Given the description of an element on the screen output the (x, y) to click on. 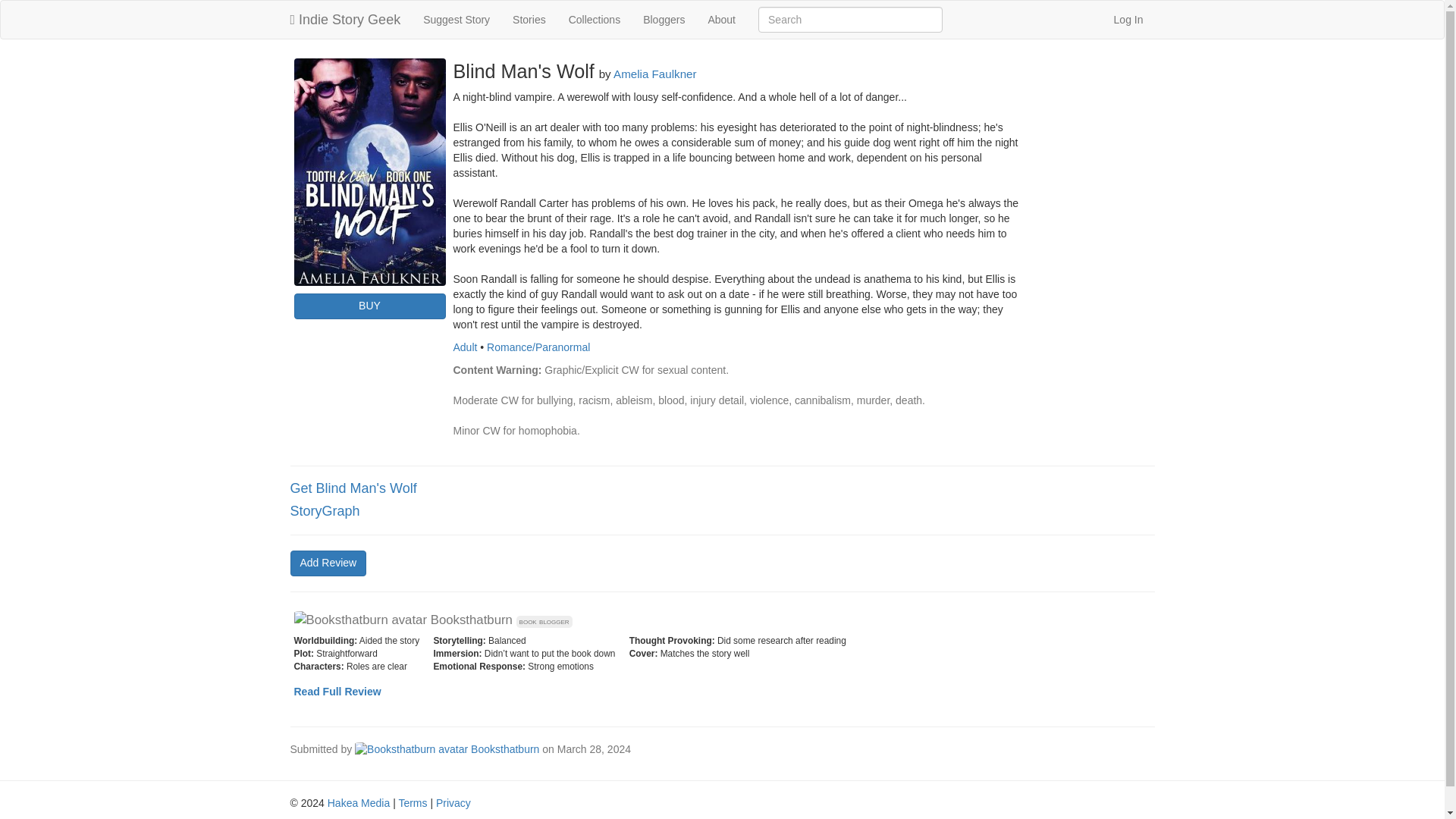
StoryGraph (324, 510)
Get Blind Man's Wolf (352, 488)
Stories (528, 19)
Adult (464, 346)
Log In (1128, 19)
Amelia Faulkner (654, 73)
Suggest Story (456, 19)
BUY (369, 306)
Read Full Review (337, 691)
Privacy (452, 802)
Collections (594, 19)
Hakea Media (358, 802)
Booksthatburn (446, 748)
Terms (411, 802)
Bloggers (663, 19)
